Given the description of an element on the screen output the (x, y) to click on. 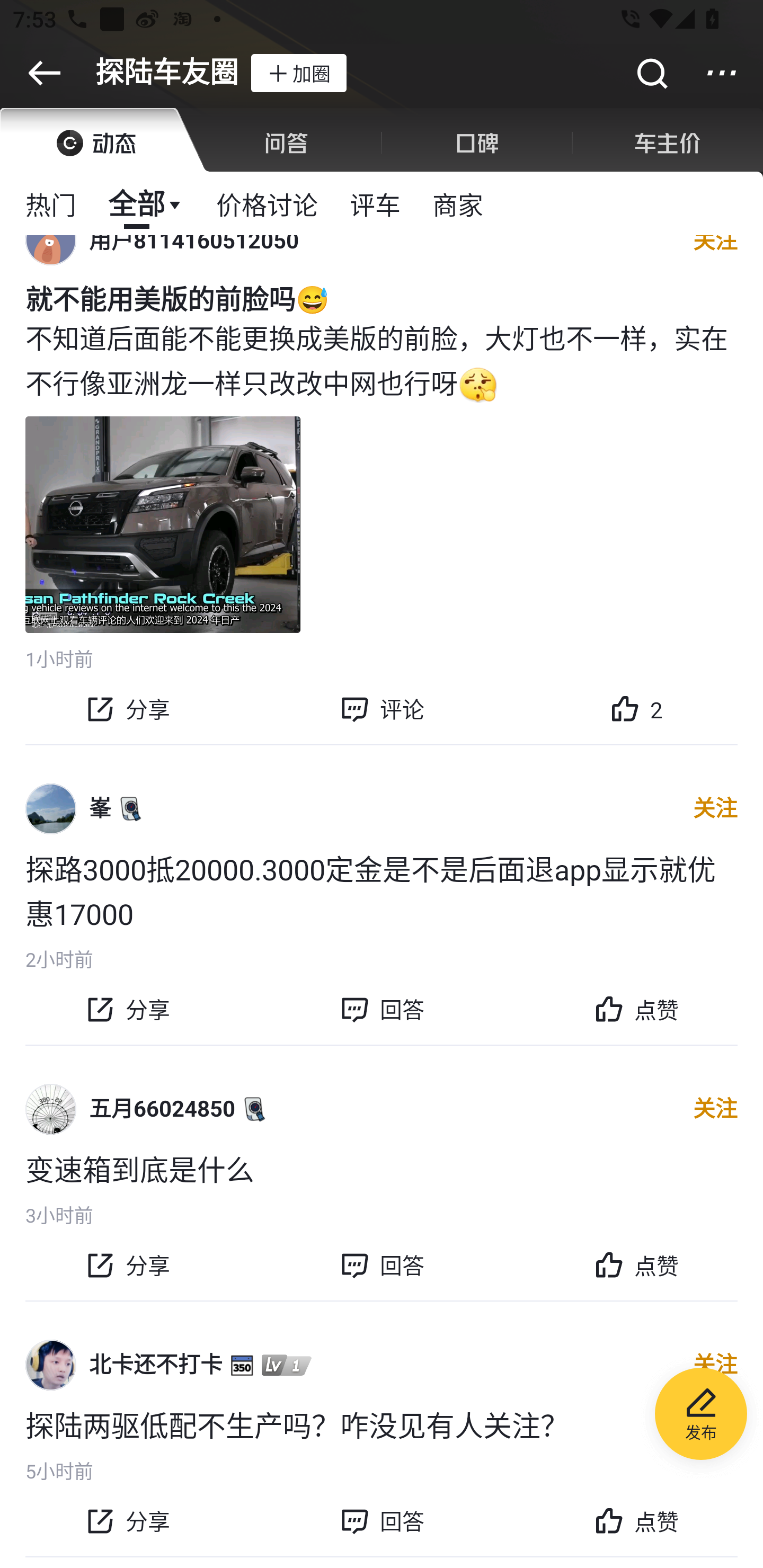
 (44, 72)
 加圈 (298, 72)
 (651, 72)
 (721, 72)
热门 (50, 202)
全部  (146, 202)
价格讨论 (266, 202)
评车 (374, 202)
商家 (457, 202)
不知道后面能不能更换成美版的前脸，大灯也不一样，实在不行像亚洲龙一样只改改中网也行呀[抠鼻] (381, 359)
 分享 (127, 709)
 评论 (381, 709)
2 (635, 709)
关注 (714, 808)
峯 (100, 808)
探路3000抵20000.3000定金是不是后面退app显示就优惠17000 (381, 889)
 分享 (127, 1009)
 回答 (381, 1009)
点赞 (635, 1009)
关注 (714, 1109)
五月66024850 (162, 1108)
变速箱到底是什么 (381, 1167)
 分享 (127, 1264)
 回答 (381, 1264)
点赞 (635, 1264)
关注 (714, 1364)
北卡还不打卡 (155, 1364)
 发布 (701, 1416)
探陆两驱低配不生产吗？咋没见有人关注？ (381, 1424)
 分享 (127, 1521)
 回答 (381, 1521)
点赞 (635, 1521)
